Given the description of an element on the screen output the (x, y) to click on. 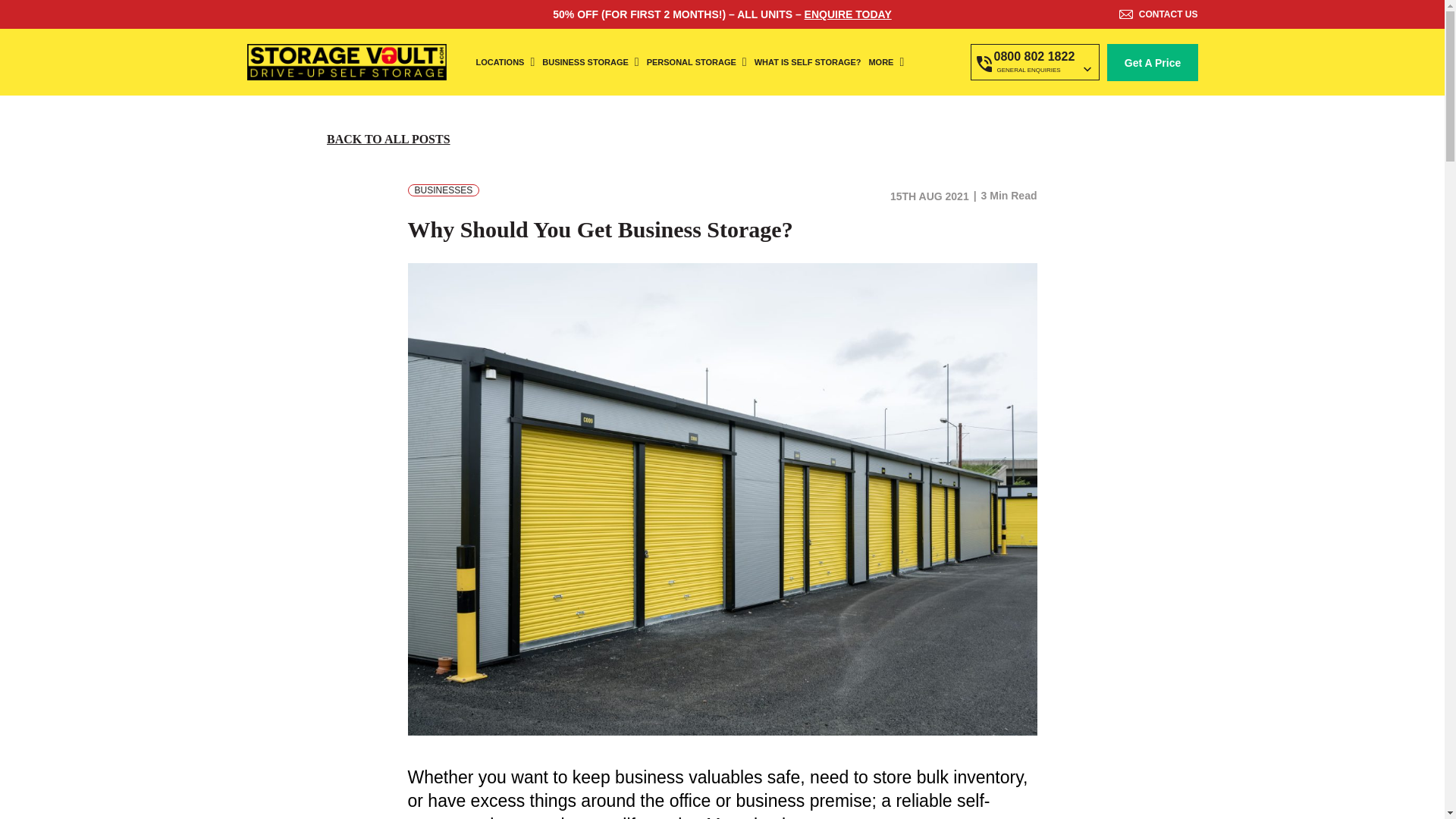
WHAT IS SELF STORAGE? (807, 61)
MORE (885, 61)
ENQUIRE TODAY (848, 14)
BUSINESS STORAGE (590, 61)
PERSONAL STORAGE (696, 61)
LOCATIONS (505, 61)
